Given the description of an element on the screen output the (x, y) to click on. 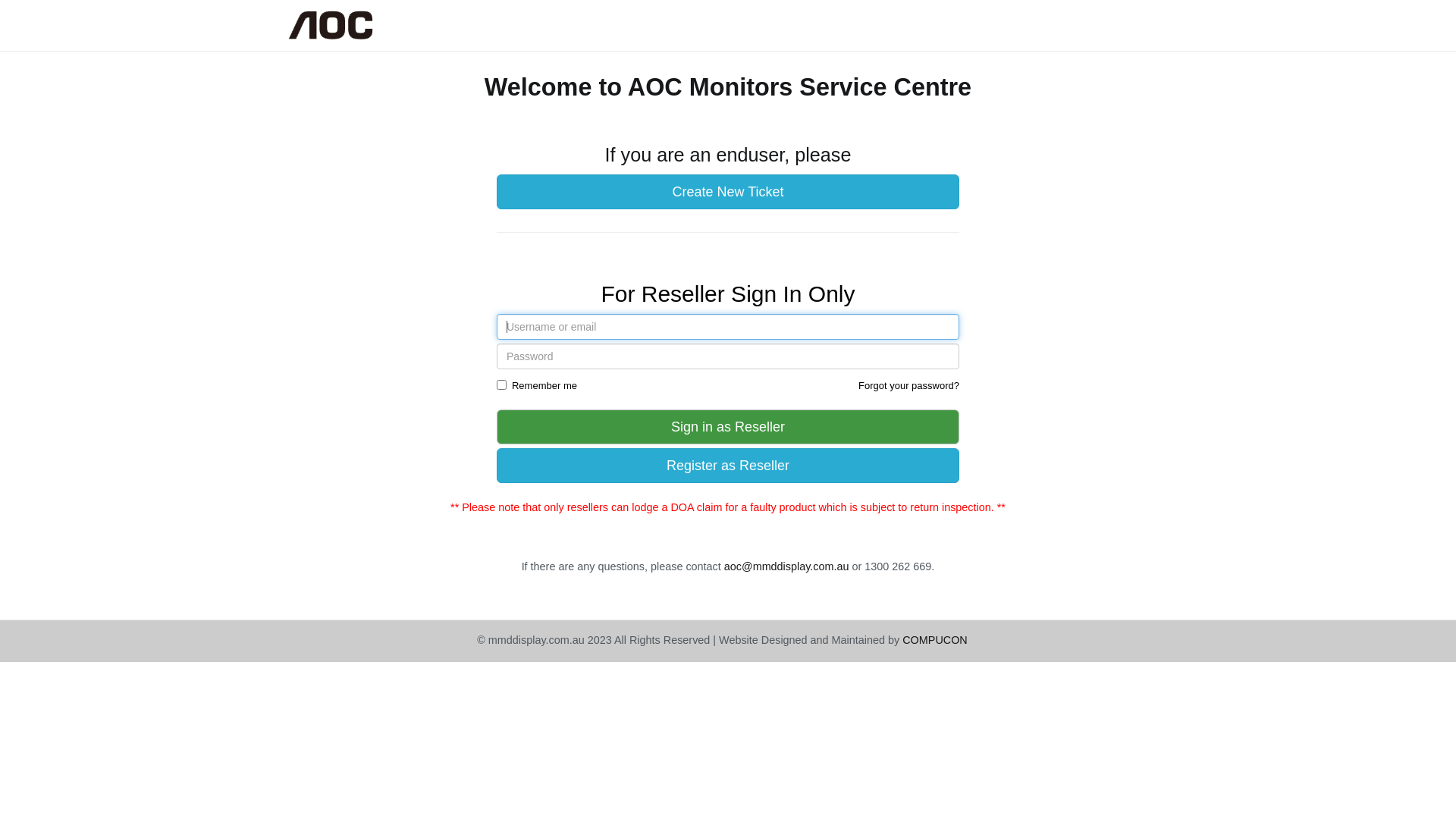
Create New Ticket Element type: text (727, 191)
Monitors Service Centre Element type: text (465, 35)
Forgot your password? Element type: text (908, 385)
Register as Reseller Element type: text (727, 465)
Sign in as Reseller Element type: text (727, 426)
aoc@mmddisplay.com.au Element type: text (786, 566)
COMPUCON Element type: text (934, 639)
